Given the description of an element on the screen output the (x, y) to click on. 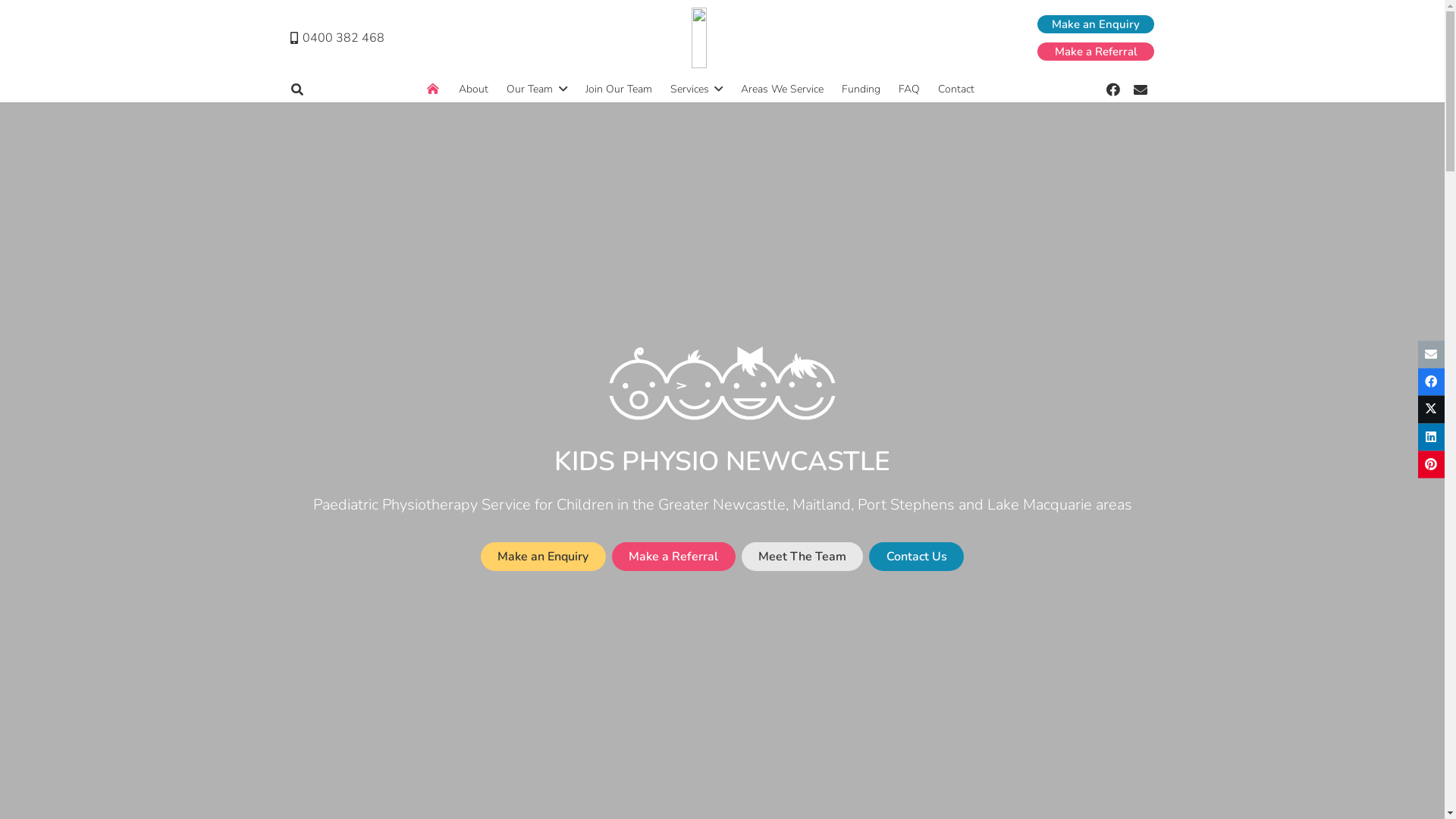
Share this Element type: hover (1431, 381)
Our Team Element type: text (536, 88)
Client handbook, Privacy Policy & Feedback Element type: text (771, 800)
Contact Element type: text (955, 88)
0400 382 468 Element type: text (818, 613)
Share this Element type: hover (1431, 436)
FAQ Element type: text (908, 88)
Make a Referral Element type: text (482, 698)
Services Element type: text (696, 88)
Email Element type: hover (784, 671)
Join Our Team Element type: text (618, 88)
Newcastle Creative Co. Element type: text (883, 777)
Contact Us Element type: text (916, 556)
0400 382 468 Element type: text (336, 37)
Facebook Element type: hover (754, 671)
Make an Enquiry Element type: text (351, 698)
Send an Email Element type: text (816, 578)
Email Element type: hover (1140, 89)
Make an Enquiry Element type: text (542, 556)
About Element type: text (473, 88)
Pin this Element type: hover (1431, 463)
Facebook Element type: hover (1112, 89)
Email this Element type: hover (1431, 354)
Meet The Team Element type: text (802, 556)
Funding Element type: text (860, 88)
Areas We Service Element type: text (781, 88)
Terms and Conditions Element type: text (625, 800)
Tweet this Element type: hover (1431, 409)
Make an Enquiry Element type: text (1095, 24)
Make a Referral Element type: text (1095, 51)
Make a Referral Element type: text (673, 556)
